Given the description of an element on the screen output the (x, y) to click on. 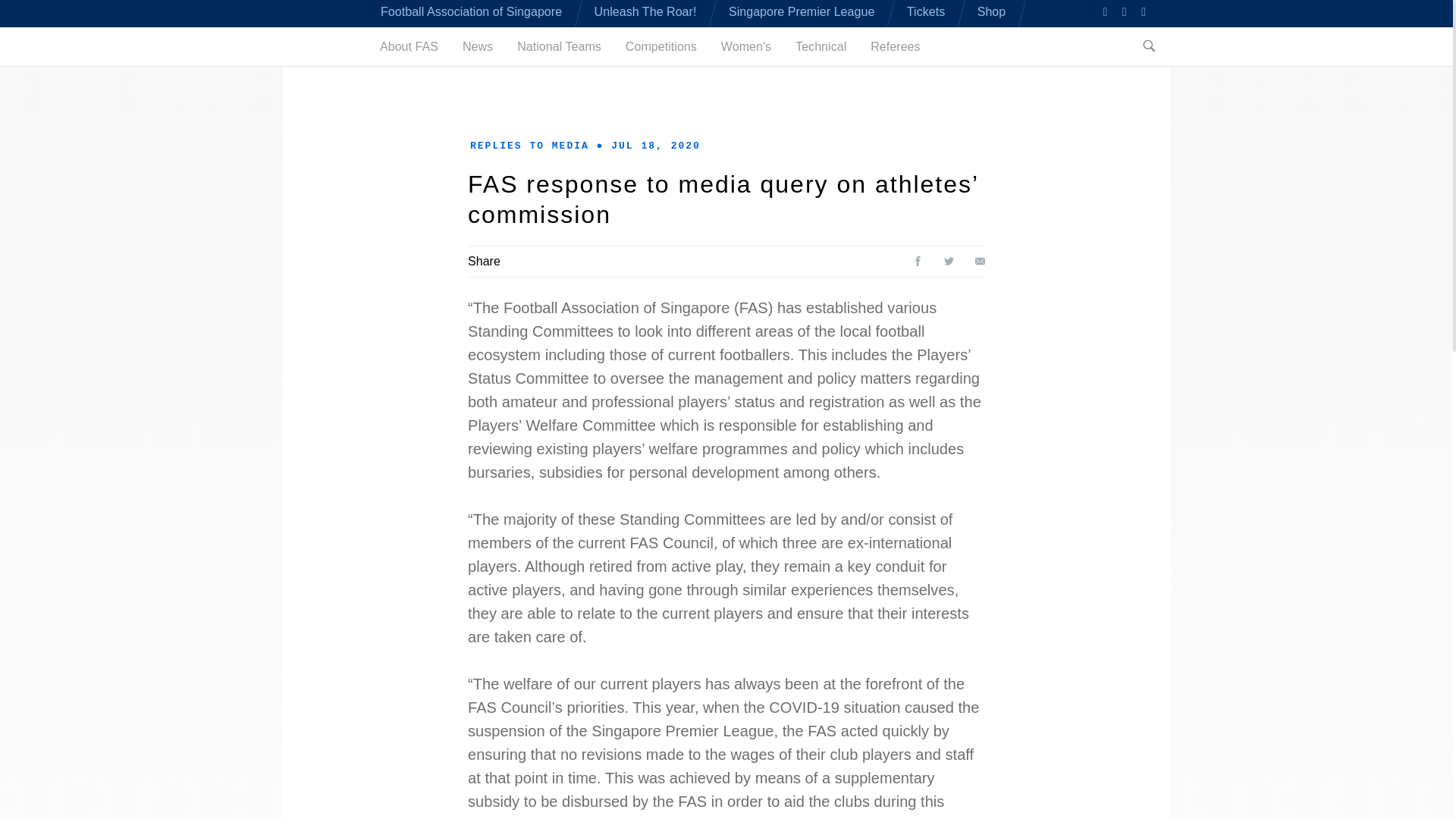
National Teams (558, 46)
Football Association of Singapore (471, 11)
Singapore Premier League (802, 11)
Tickets (925, 11)
About FAS (409, 46)
Unleash The Roar! (645, 11)
Shop (991, 11)
